Given the description of an element on the screen output the (x, y) to click on. 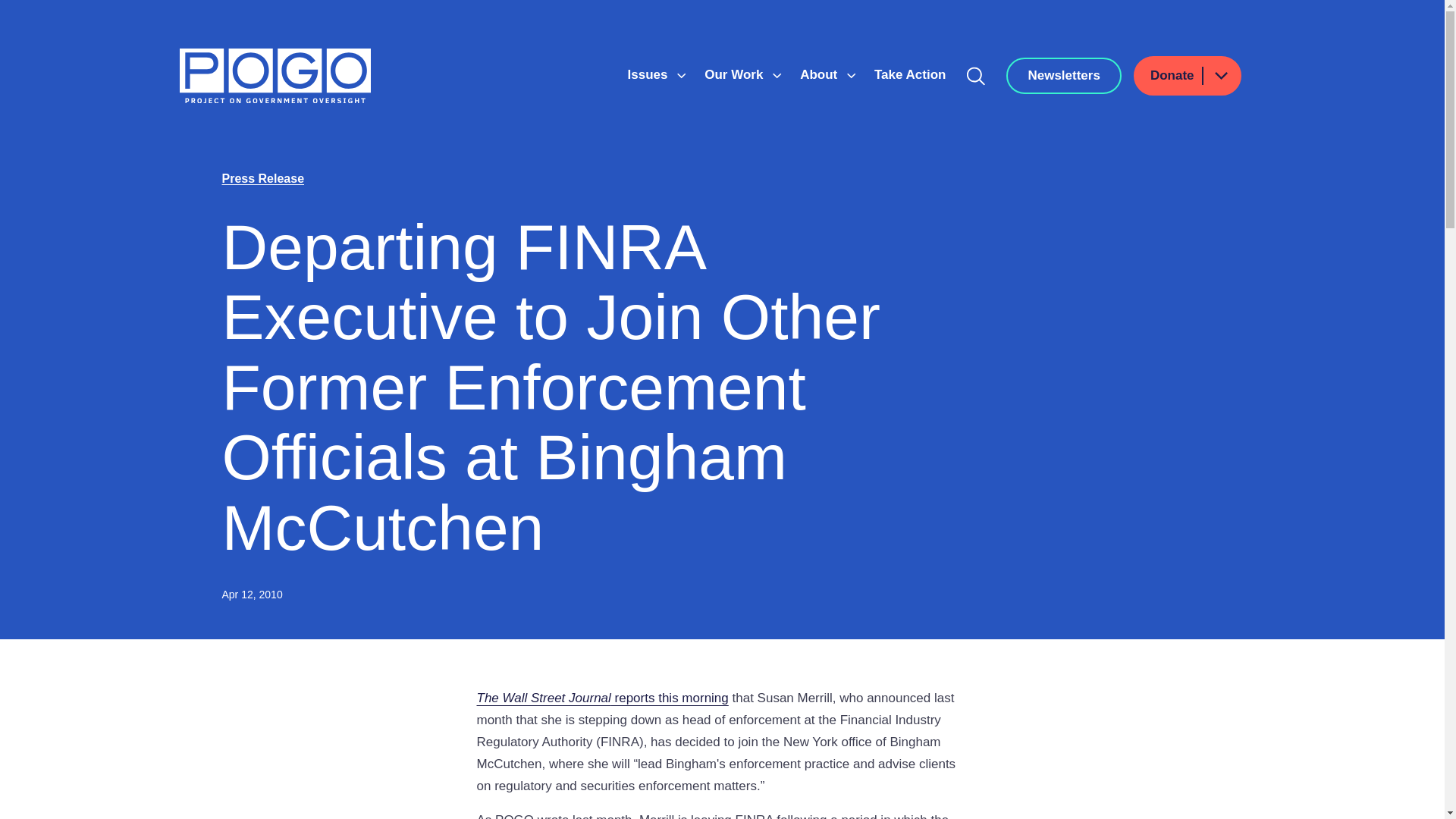
Newsletters (1063, 75)
Issues (649, 74)
Search (976, 75)
About (820, 74)
Show submenu for About (851, 75)
Show submenu for Our Work (777, 75)
Show submenu for Donate (1220, 75)
Our Work (735, 74)
Home (274, 75)
Show submenu for Issues (681, 75)
Take Action (909, 74)
Donate (1187, 75)
